Given the description of an element on the screen output the (x, y) to click on. 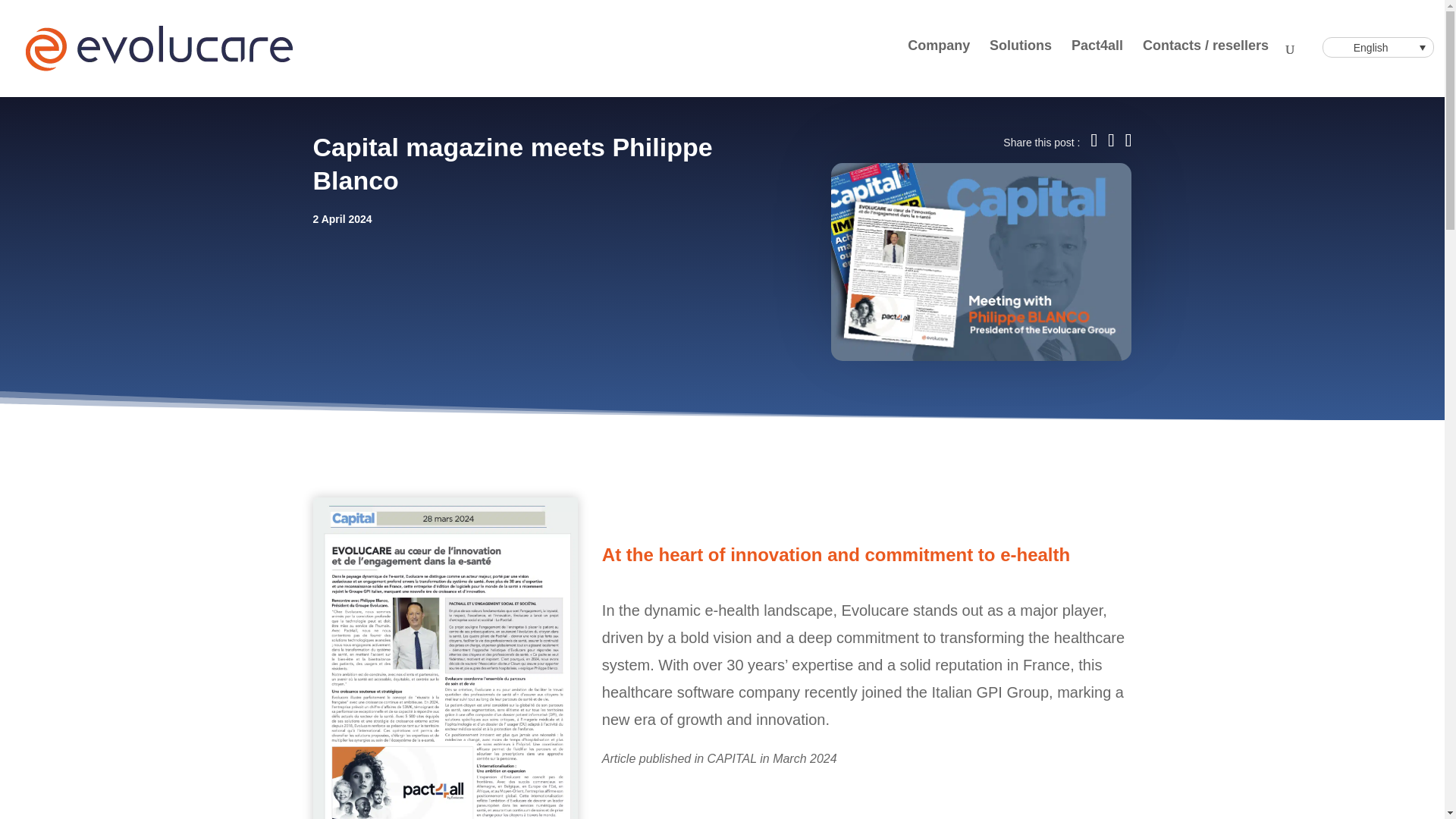
Company (938, 65)
English (1378, 46)
Solutions (1020, 65)
